Given the description of an element on the screen output the (x, y) to click on. 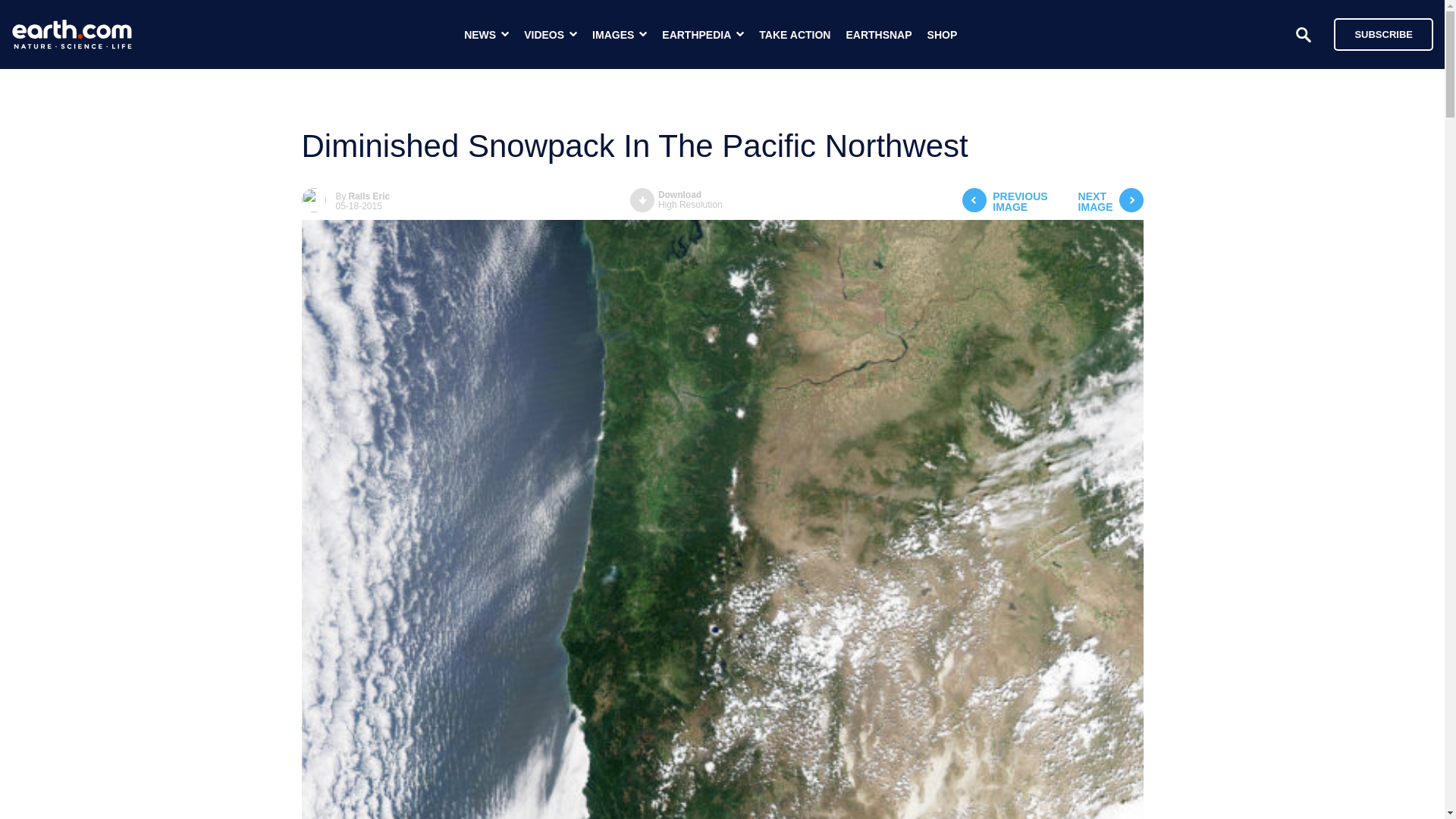
SHOP (676, 200)
EARTHSNAP (1110, 201)
SUBSCRIBE (942, 34)
TAKE ACTION (878, 34)
Ralls Eric (1382, 34)
